Given the description of an element on the screen output the (x, y) to click on. 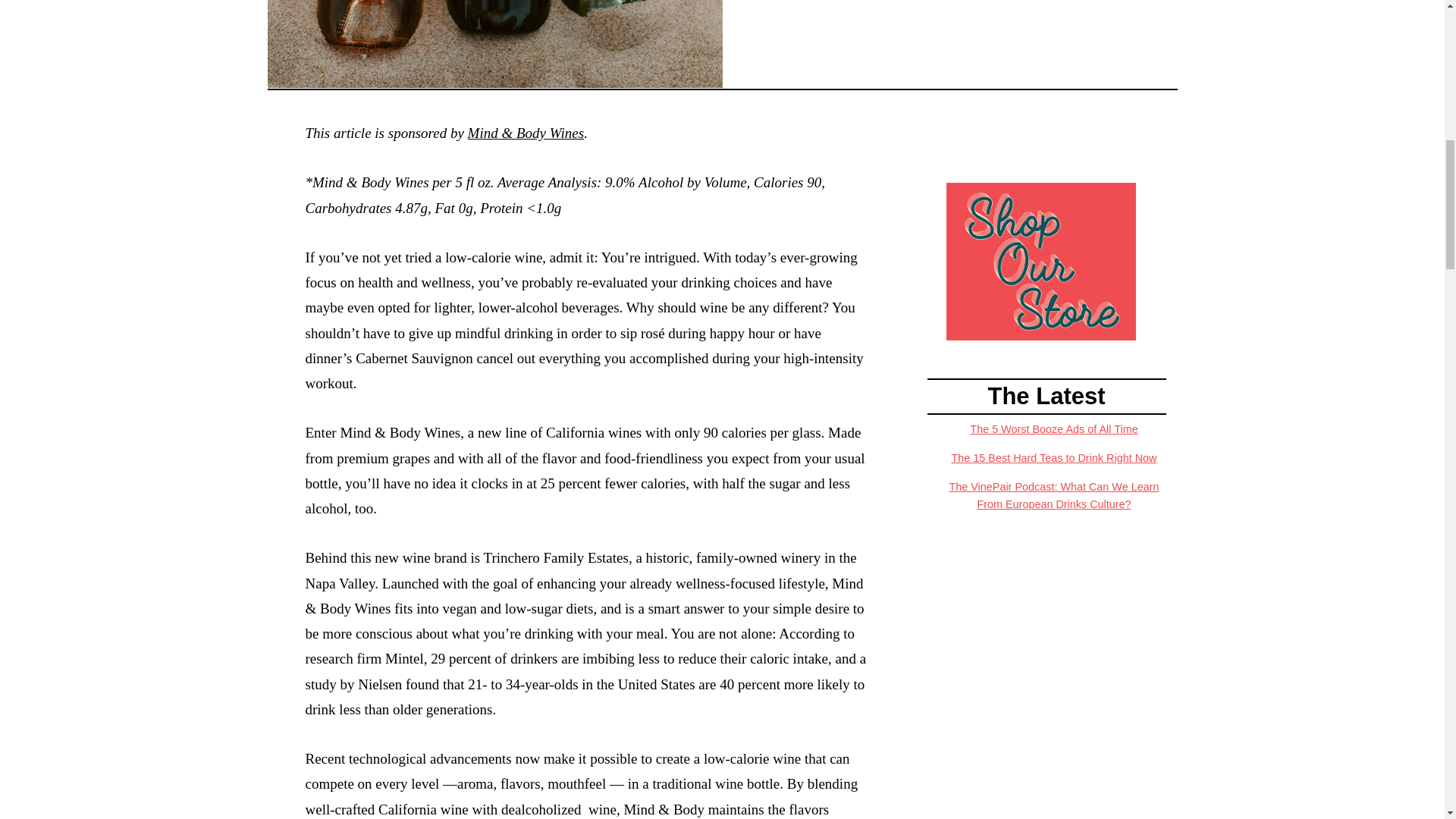
The VinePair Store (1040, 259)
